Given the description of an element on the screen output the (x, y) to click on. 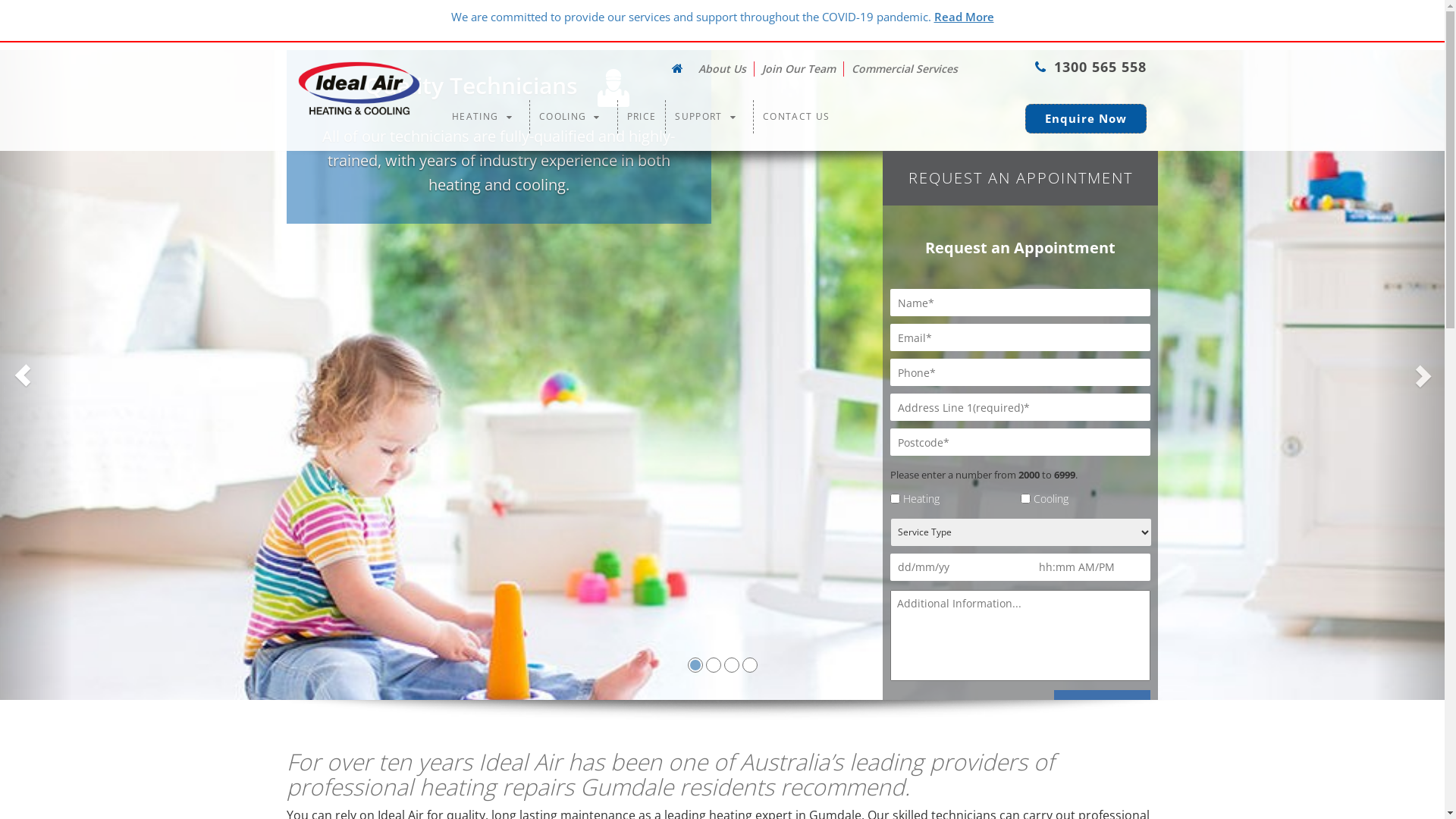
CONTACT US Element type: text (795, 116)
COOLING Element type: text (573, 116)
Request Element type: text (1102, 704)
HEATING Element type: text (485, 116)
SUPPORT Element type: text (709, 116)
PRICE Element type: text (641, 116)
Join Our Team Element type: text (799, 68)
Commercial Services Element type: text (904, 68)
Enquire Now Element type: text (1085, 118)
Next Element type: text (1408, 374)
About Us Element type: text (722, 68)
1300 565 558 Element type: text (1090, 67)
Previous Element type: text (36, 374)
Read More Element type: text (964, 16)
